Given the description of an element on the screen output the (x, y) to click on. 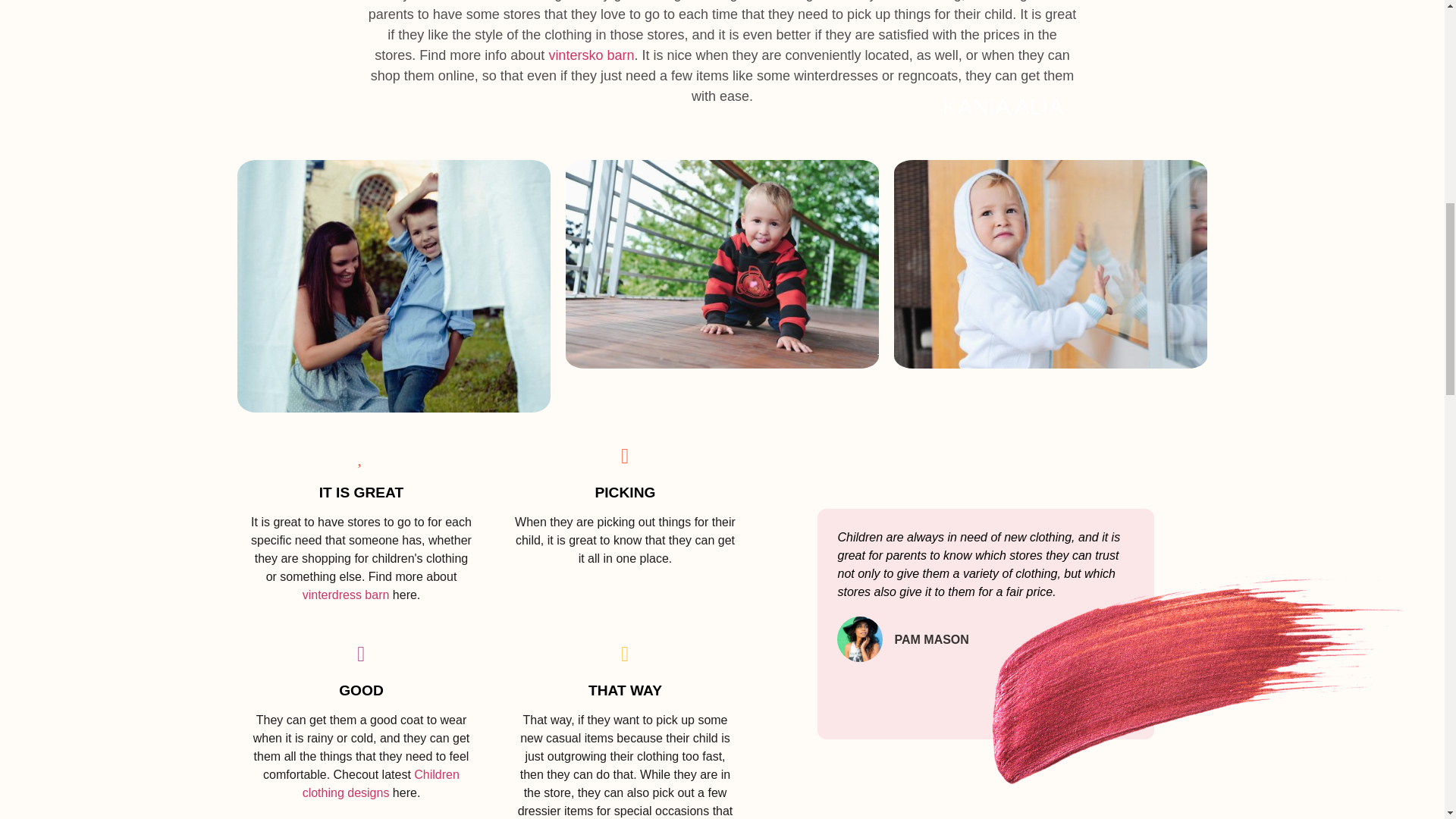
Children clothing designs (381, 783)
vintersko barn (590, 68)
vinterdress barn (346, 594)
